Given the description of an element on the screen output the (x, y) to click on. 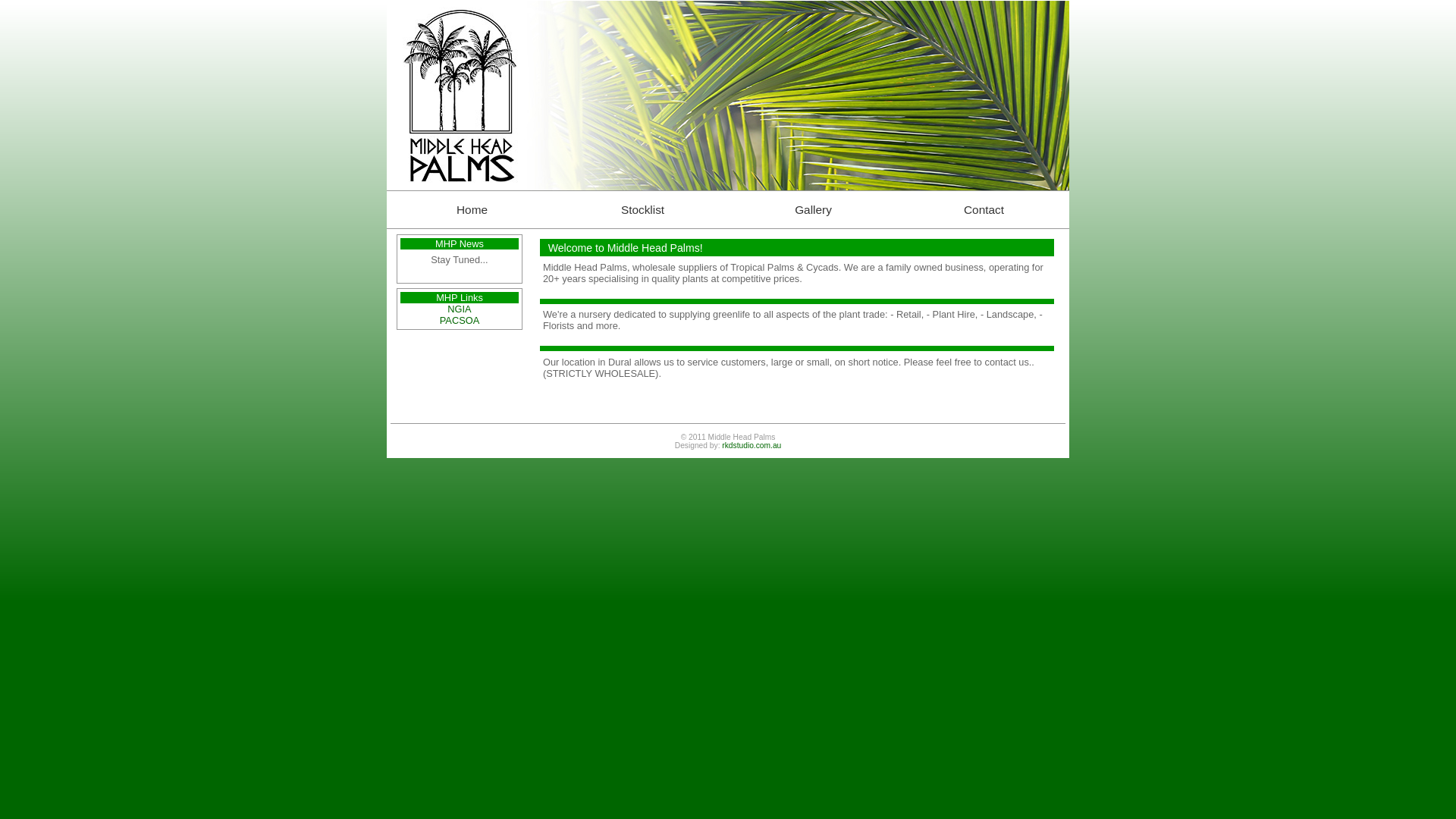
PACSOA Element type: text (459, 320)
Home Element type: text (471, 209)
Stocklist Element type: text (642, 209)
rkdstudio.com.au Element type: text (751, 445)
Contact Element type: text (983, 209)
NGIA Element type: text (459, 308)
Gallery Element type: text (813, 209)
